Given the description of an element on the screen output the (x, y) to click on. 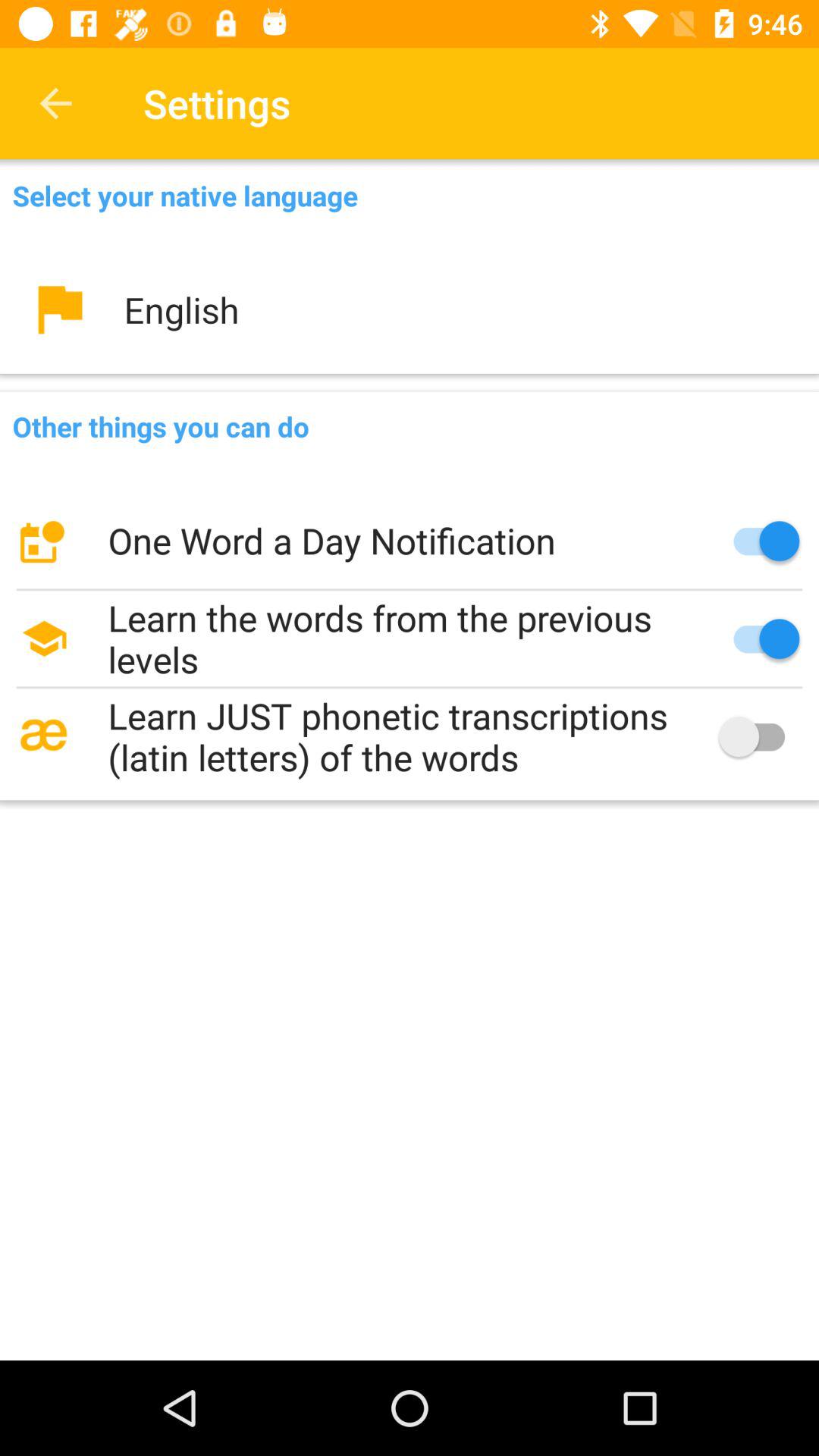
turn off the item to the left of the settings icon (55, 103)
